Given the description of an element on the screen output the (x, y) to click on. 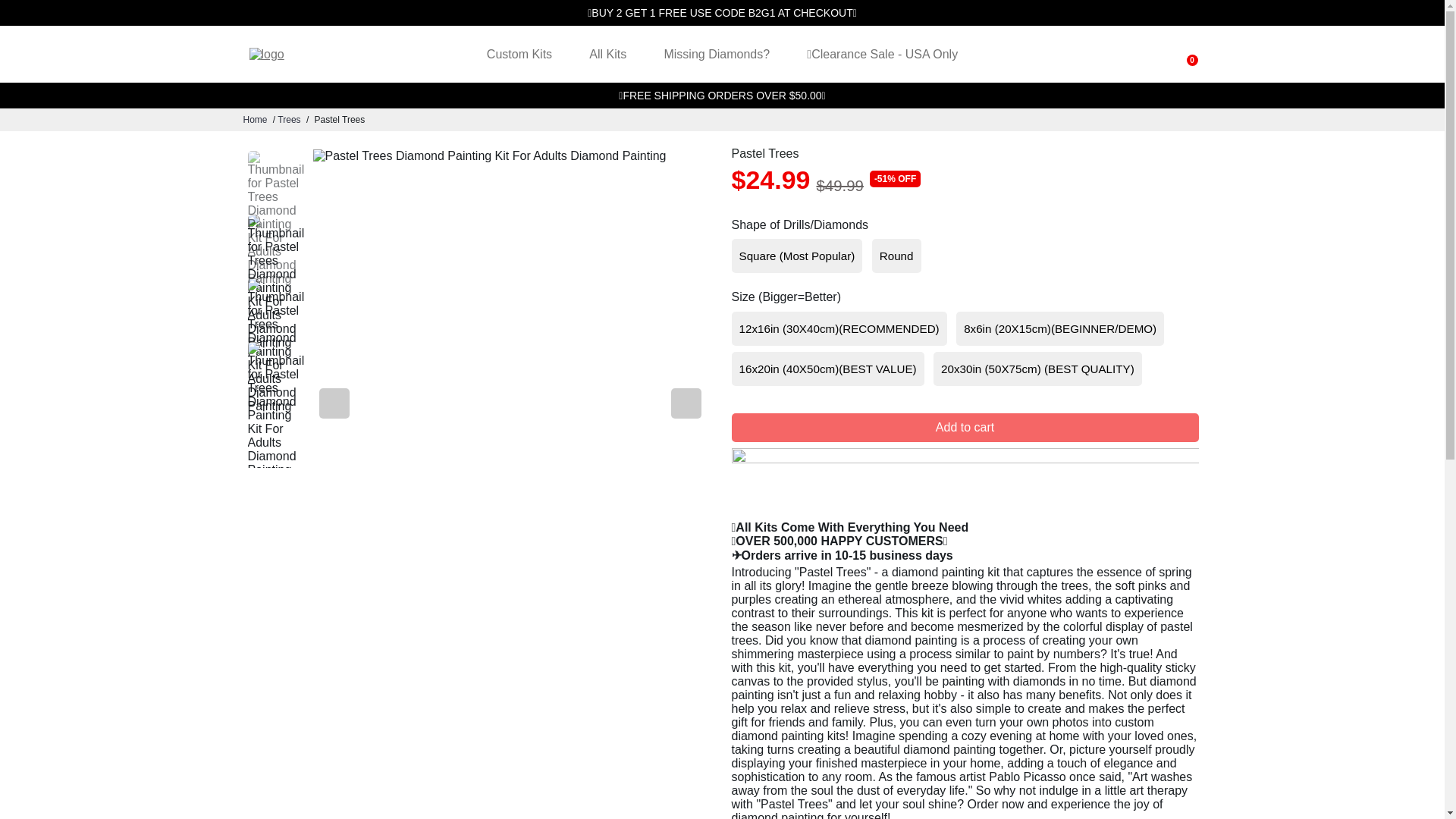
Add to cart (964, 427)
Home (254, 119)
All Kits (607, 53)
Custom Kits (519, 53)
Home (254, 119)
Trees (288, 119)
Missing Diamonds? (715, 53)
